Given the description of an element on the screen output the (x, y) to click on. 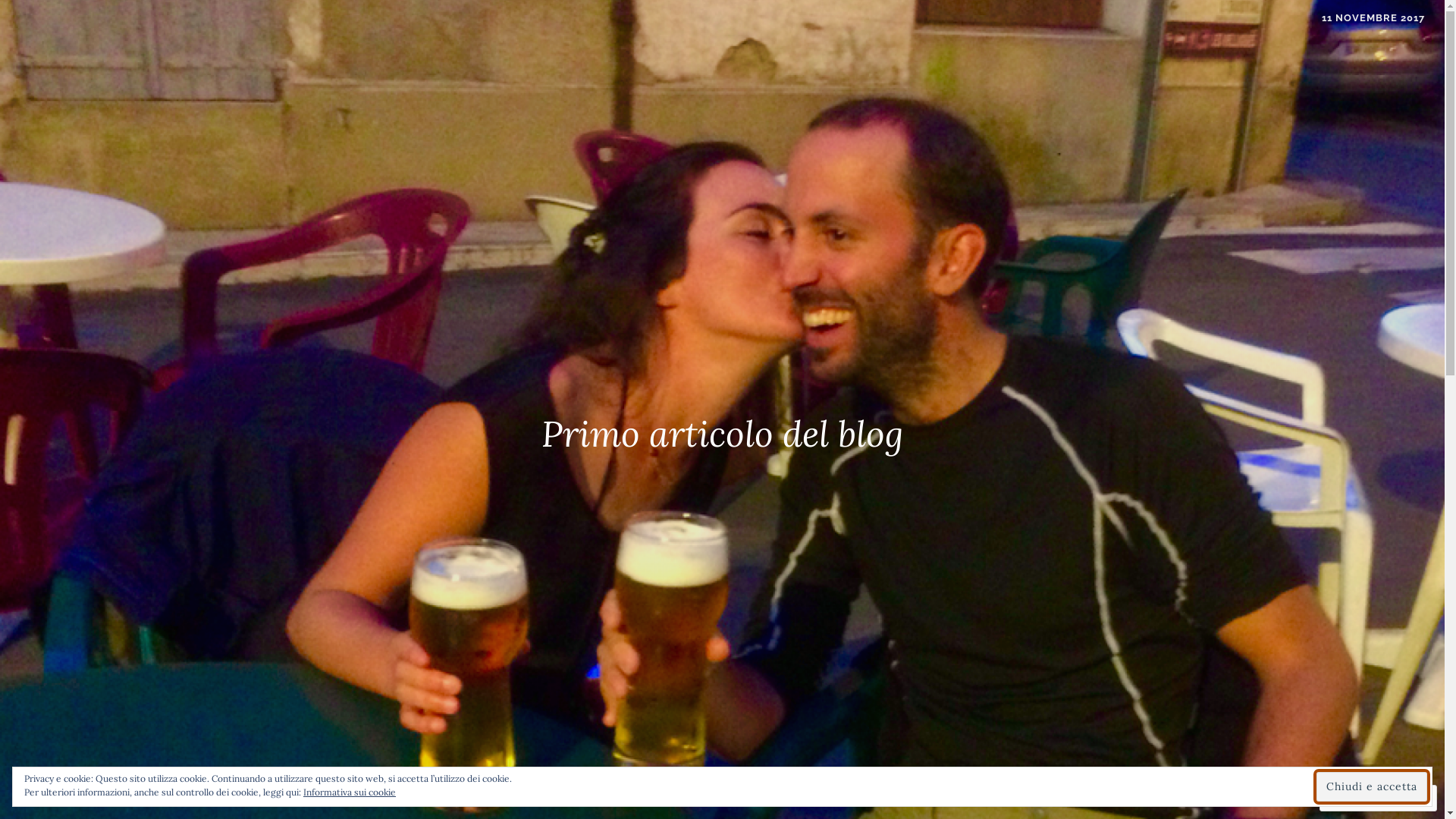
Informativa sui cookie Element type: text (349, 791)
Chiudi e accetta Element type: text (1371, 786)
Commento Element type: text (1363, 797)
11 NOVEMBRE 2017 Element type: text (1372, 17)
